Given the description of an element on the screen output the (x, y) to click on. 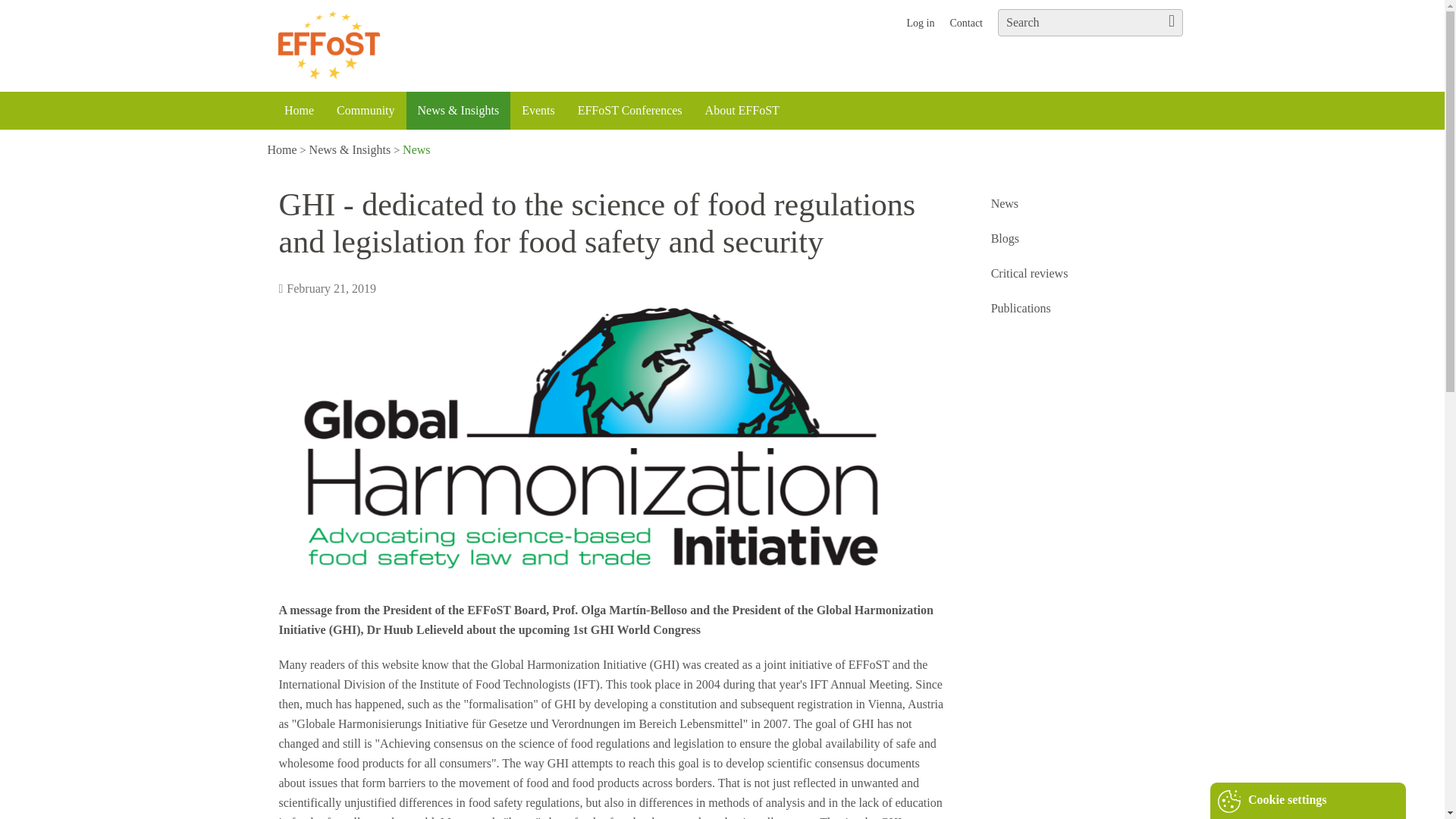
Home (298, 110)
Home (281, 149)
Events (538, 110)
EFFoST Conferences (630, 110)
News (416, 149)
Contact (966, 22)
Community (365, 110)
Log in (920, 22)
About EFFoST (742, 110)
EFFoST - Home (412, 45)
